Given the description of an element on the screen output the (x, y) to click on. 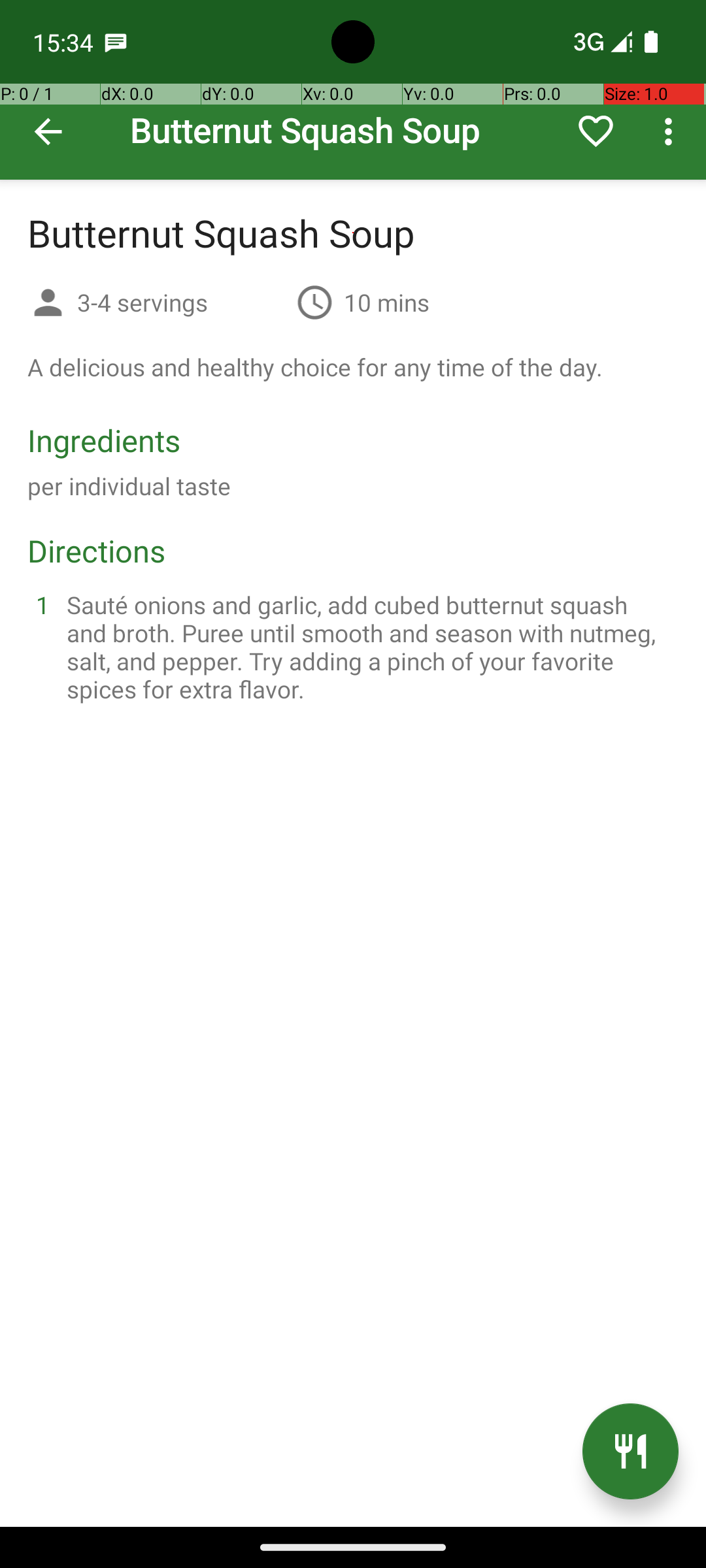
per individual taste Element type: android.widget.TextView (128, 485)
Sauté onions and garlic, add cubed butternut squash and broth. Puree until smooth and season with nutmeg, salt, and pepper. Try adding a pinch of your favorite spices for extra flavor. Element type: android.widget.TextView (368, 646)
